Given the description of an element on the screen output the (x, y) to click on. 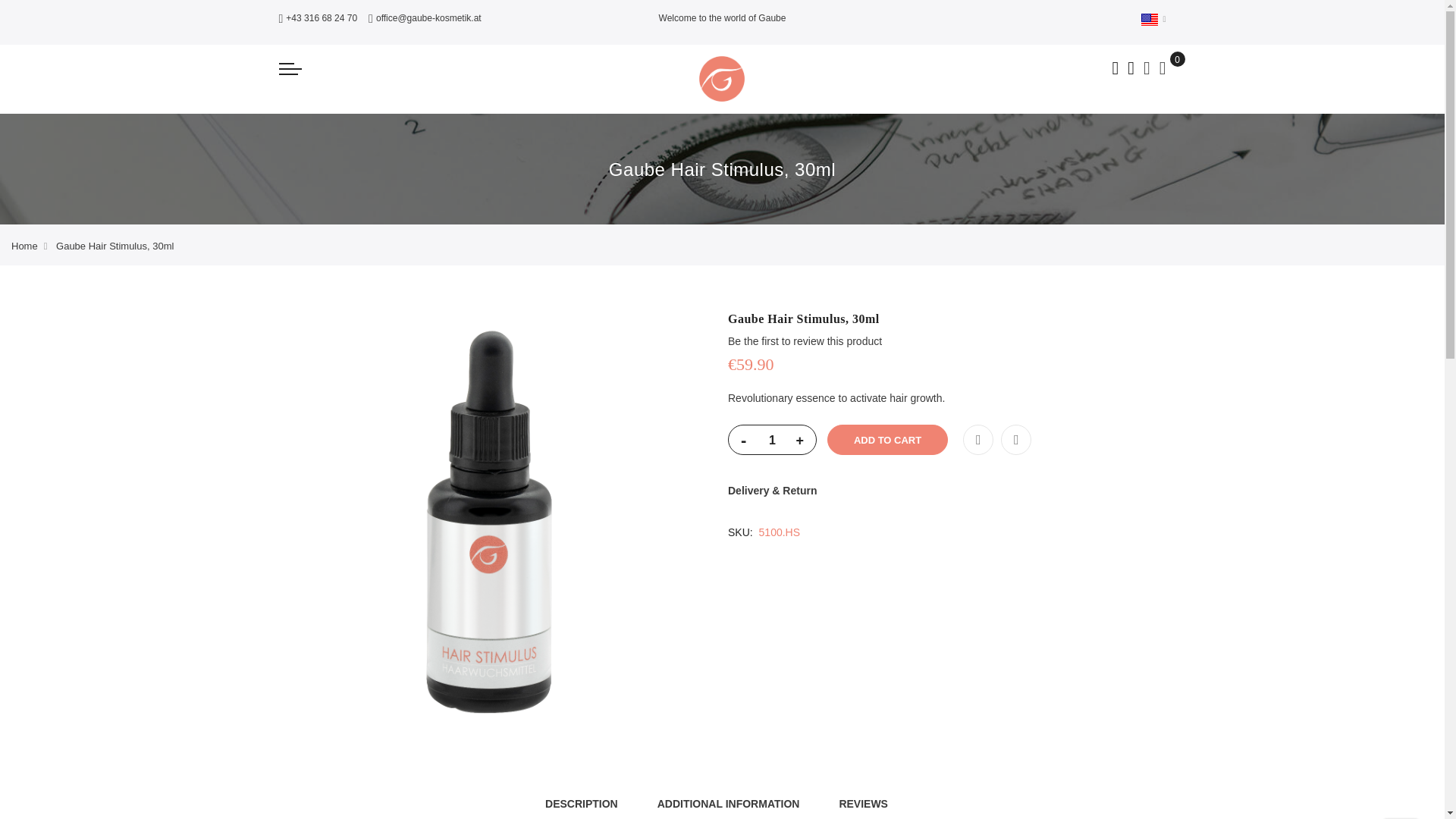
Add To Cart (887, 440)
Go to Home Page (24, 245)
1 (772, 440)
Gaube Online Shop (720, 78)
Add to Compare (1015, 440)
Qty (772, 440)
Add to Wish List (977, 440)
